Given the description of an element on the screen output the (x, y) to click on. 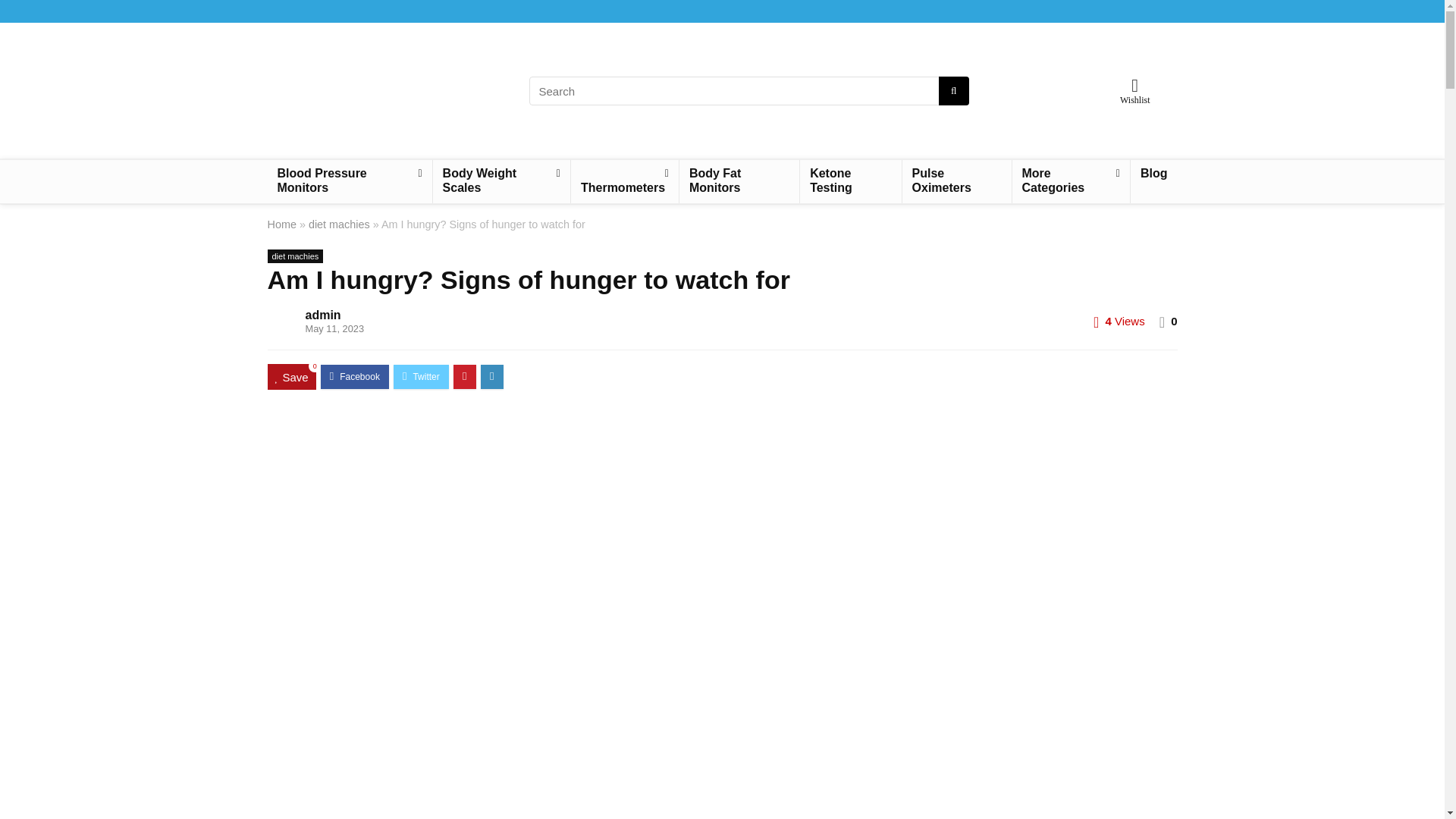
Body Fat Monitors (739, 181)
View all posts in diet machies (294, 255)
diet machies (338, 224)
Blog (1154, 174)
Home (280, 224)
Body Weight Scales (501, 181)
Thermometers (624, 181)
diet machies (294, 255)
Ketone Testing (850, 181)
admin (322, 314)
